Given the description of an element on the screen output the (x, y) to click on. 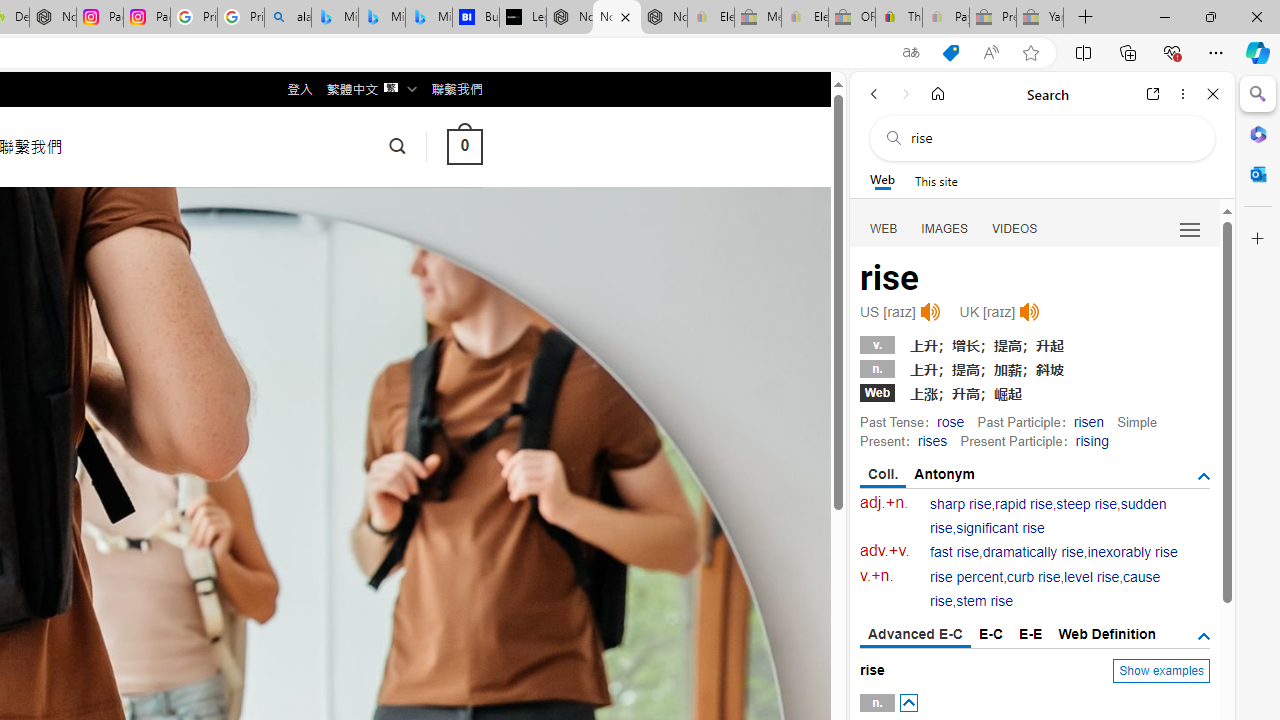
WEB (884, 228)
This site has coupons! Shopping in Microsoft Edge (950, 53)
Search the web (1051, 137)
Microsoft Bing Travel - Flights from Hong Kong to Bangkok (335, 17)
E-E (1030, 633)
Advanced E-C (915, 635)
rise percent (966, 577)
Microsoft Bing Travel - Shangri-La Hotel Bangkok (428, 17)
rose (950, 421)
